Given the description of an element on the screen output the (x, y) to click on. 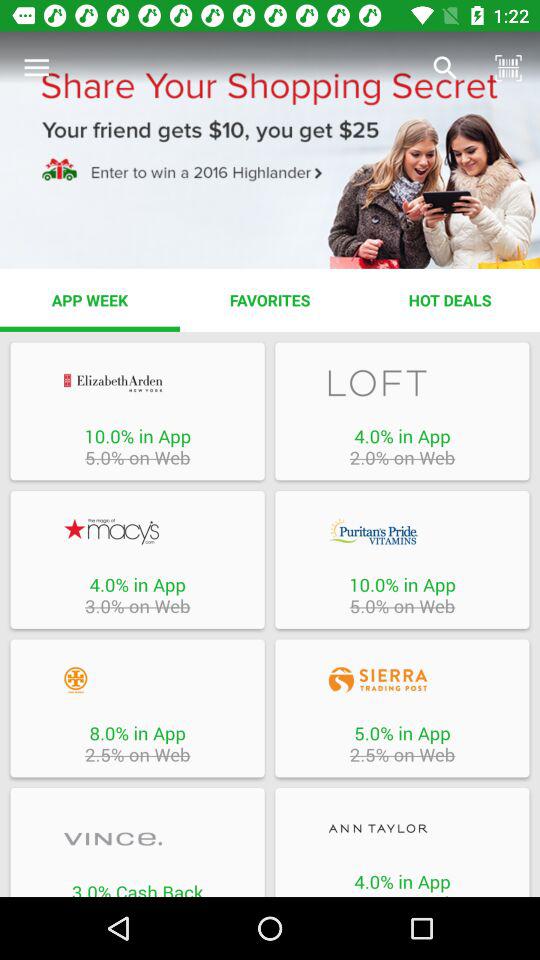
view item (402, 828)
